Given the description of an element on the screen output the (x, y) to click on. 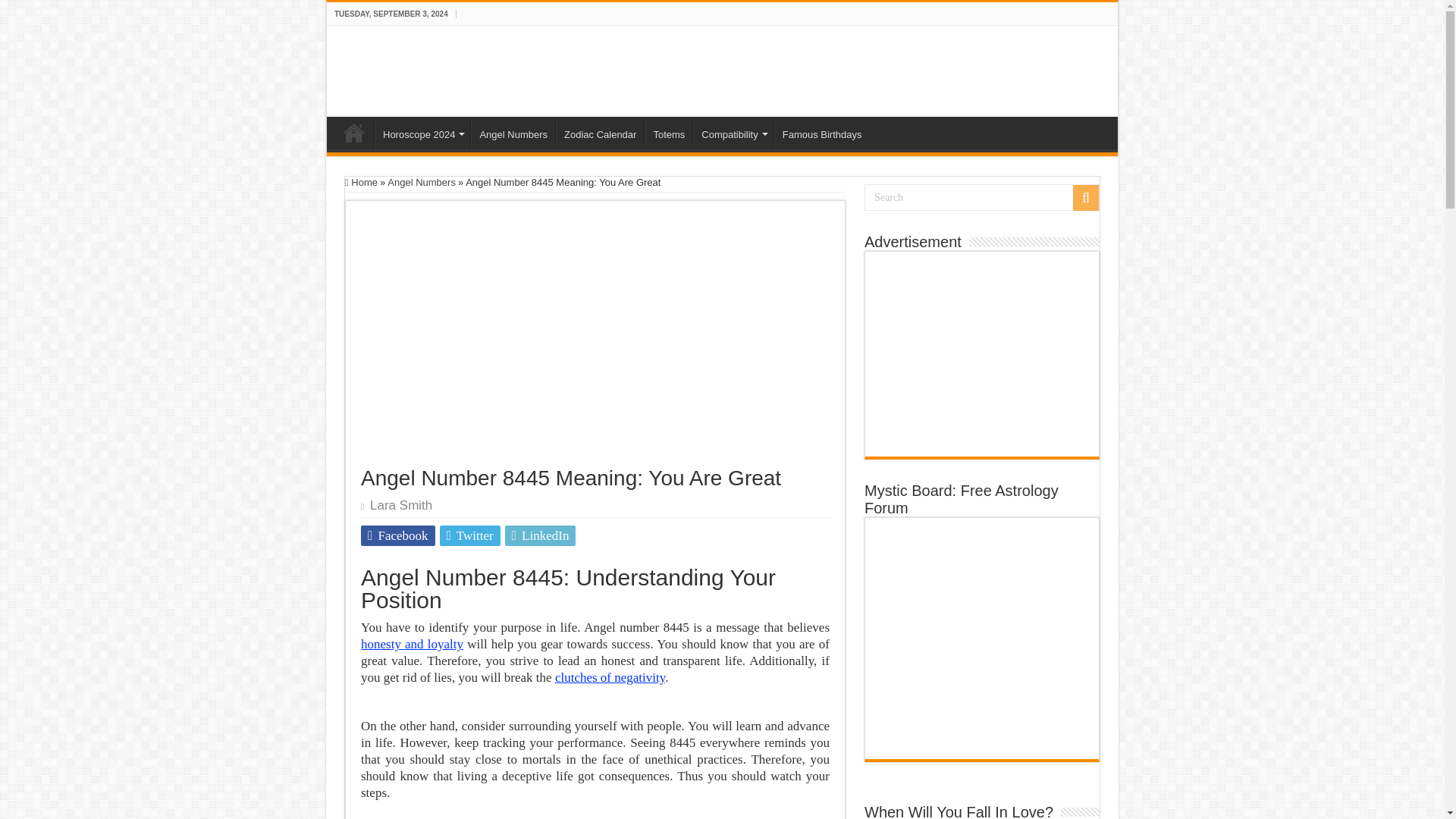
Angel Numbers (421, 182)
Totems (669, 132)
Horoscope 2024 (422, 132)
Zodiac Calendar (599, 132)
Search (981, 197)
clutches of negativity (609, 677)
Zodiac Calendar (599, 132)
LinkedIn (540, 535)
Famous Birthdays (821, 132)
honesty and loyalty (412, 644)
